Given the description of an element on the screen output the (x, y) to click on. 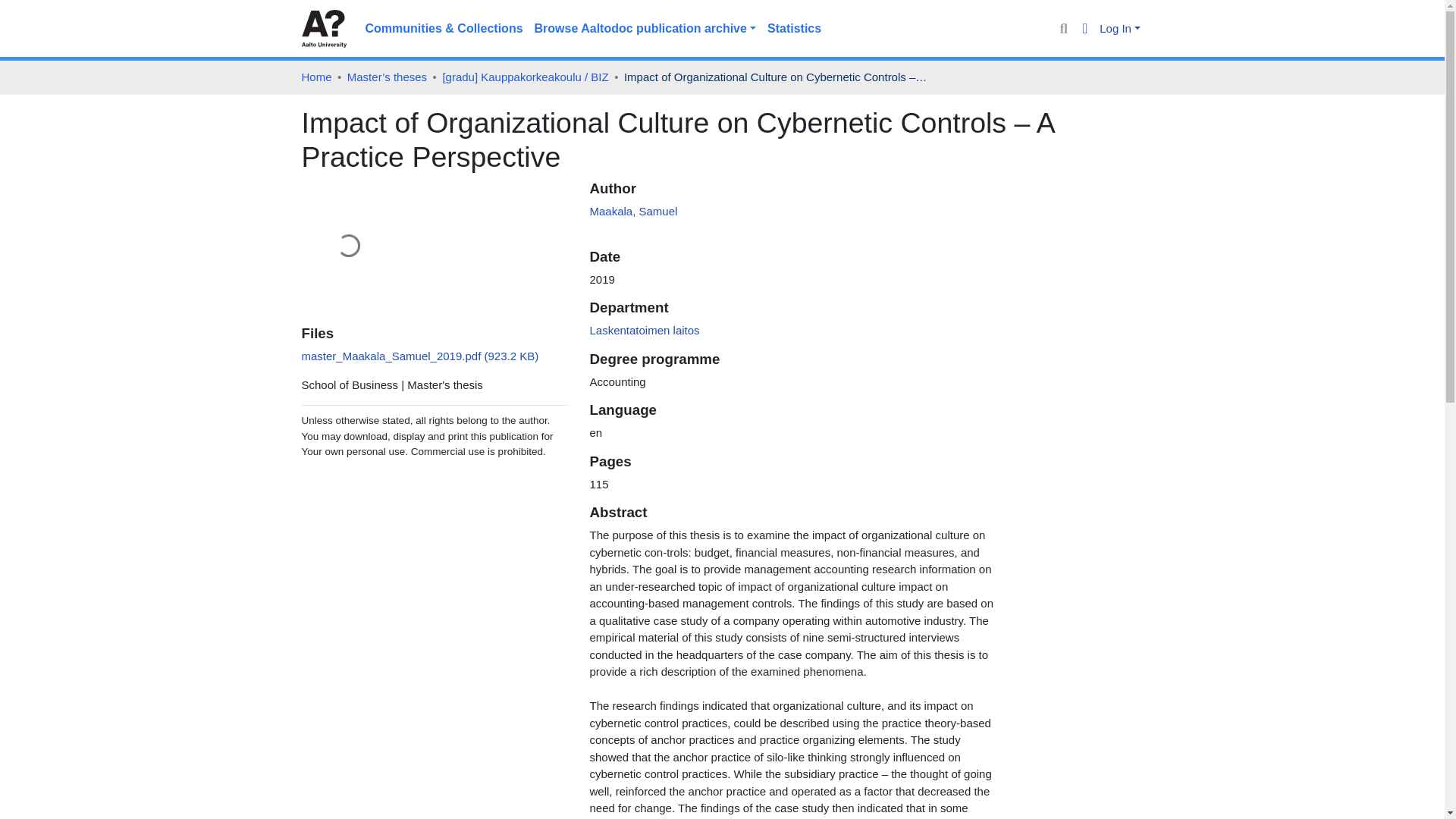
Statistics (794, 28)
Statistics (794, 28)
Log In (1119, 28)
Search (1063, 28)
Language switch (1085, 28)
Home (316, 77)
Laskentatoimen laitos (643, 329)
Maakala, Samuel (633, 210)
Browse Aaltodoc publication archive (644, 28)
